Given the description of an element on the screen output the (x, y) to click on. 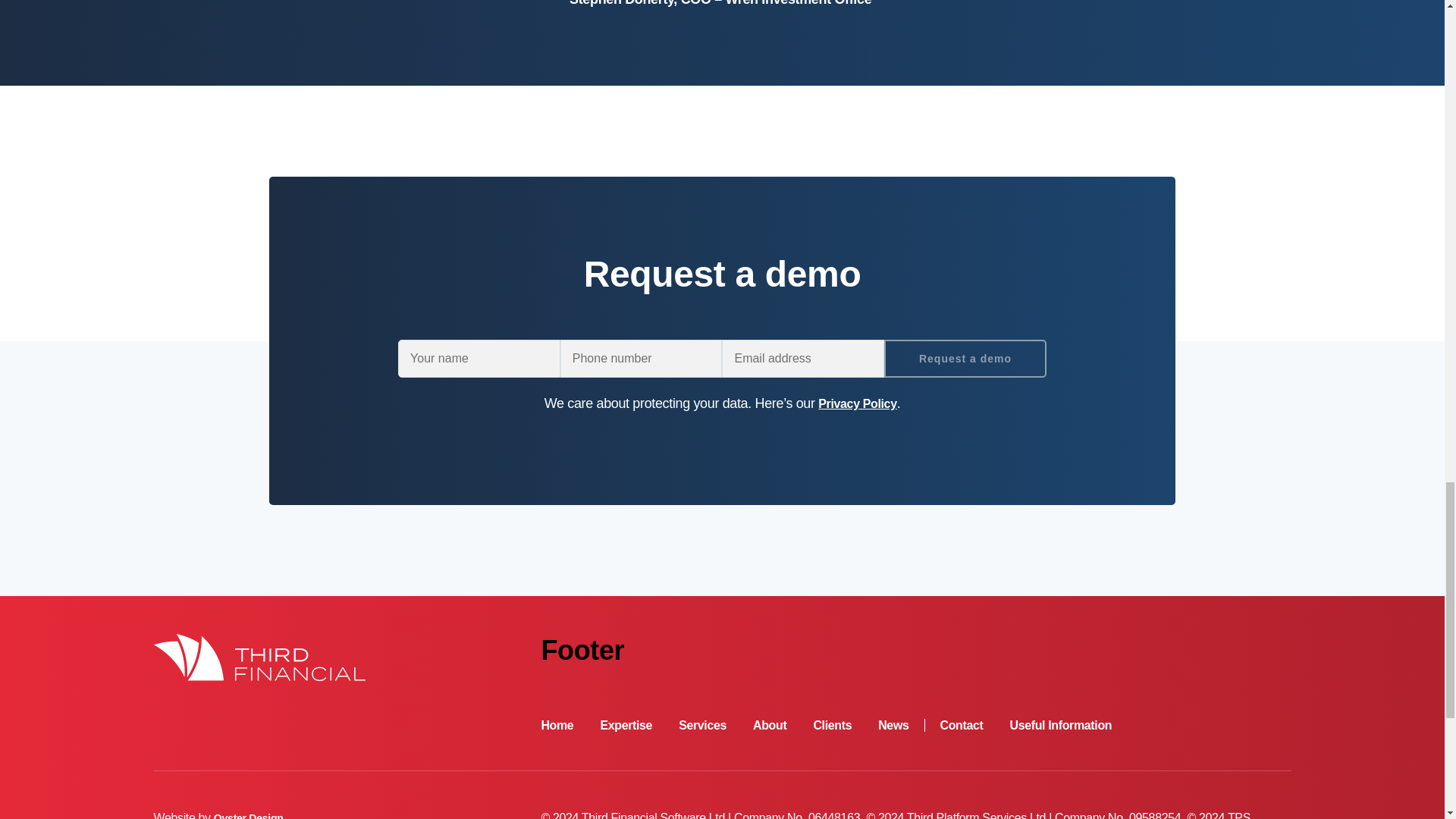
About (769, 725)
News (900, 725)
Contact (962, 725)
Useful Information (1060, 725)
Oyster Design (248, 815)
Request a demo (964, 358)
Expertise (625, 725)
Request a demo (964, 358)
Clients (831, 725)
Home (556, 725)
Services (702, 725)
Privacy Policy (857, 403)
